Given the description of an element on the screen output the (x, y) to click on. 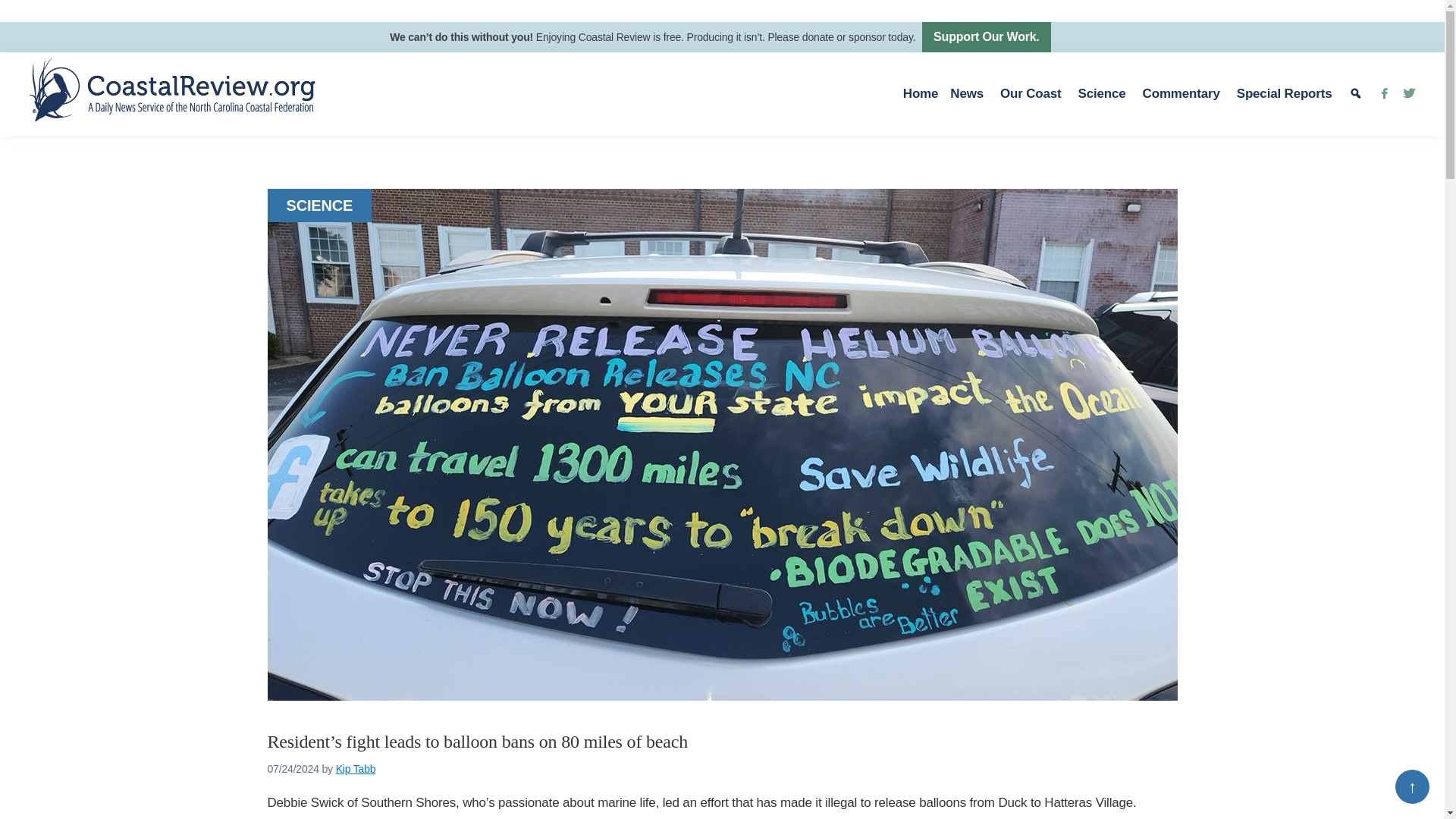
Support Our Work. (986, 37)
Support Our Work (986, 37)
Our Coast (1032, 93)
